Given the description of an element on the screen output the (x, y) to click on. 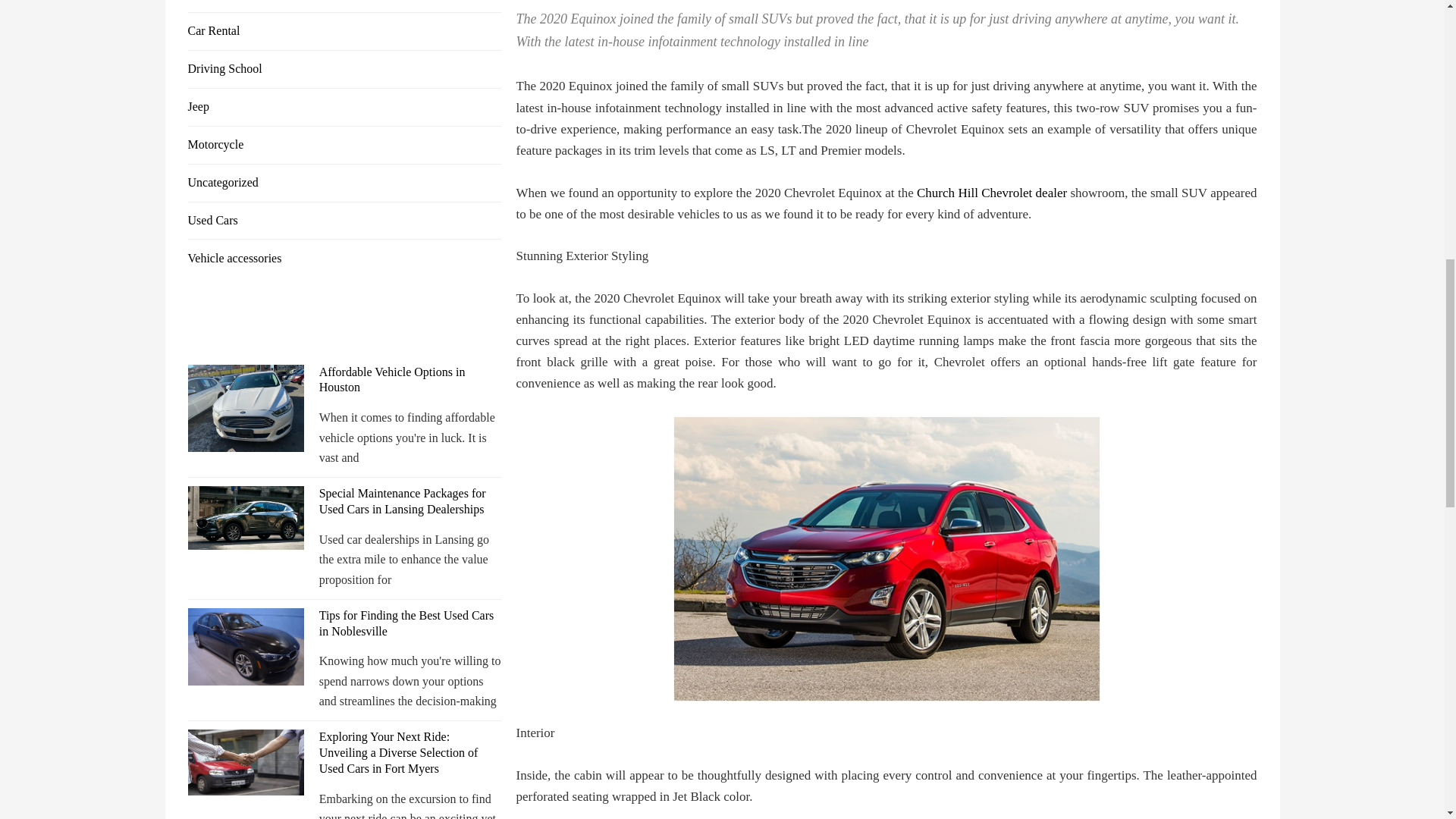
Church Hill Chevrolet dealer (992, 192)
Vehicle accessories (234, 257)
Jeep (198, 106)
Car Rental (213, 30)
Affordable Vehicle Options in Houston (391, 379)
Used Cars (212, 219)
Driving School (224, 68)
Motorcycle (215, 144)
Uncategorized (223, 182)
